Given the description of an element on the screen output the (x, y) to click on. 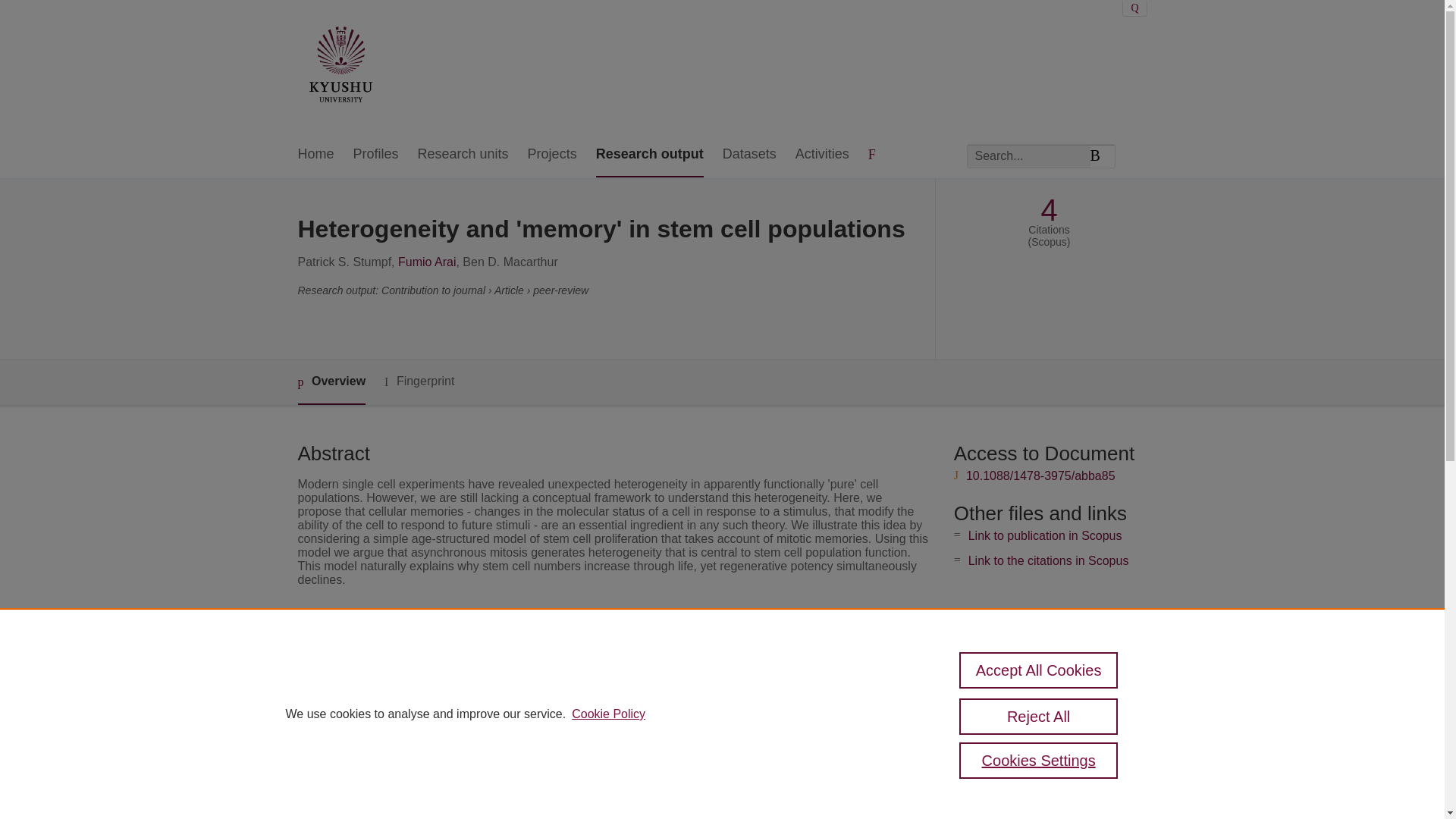
Link to the citations in Scopus (1048, 560)
Fingerprint (419, 381)
Activities (821, 154)
Datasets (749, 154)
Projects (551, 154)
Overview (331, 382)
Fumio Arai (426, 261)
Physical Biology (554, 653)
Link to publication in Scopus (1045, 535)
Research units (462, 154)
Research output (649, 154)
Profiles (375, 154)
